Given the description of an element on the screen output the (x, y) to click on. 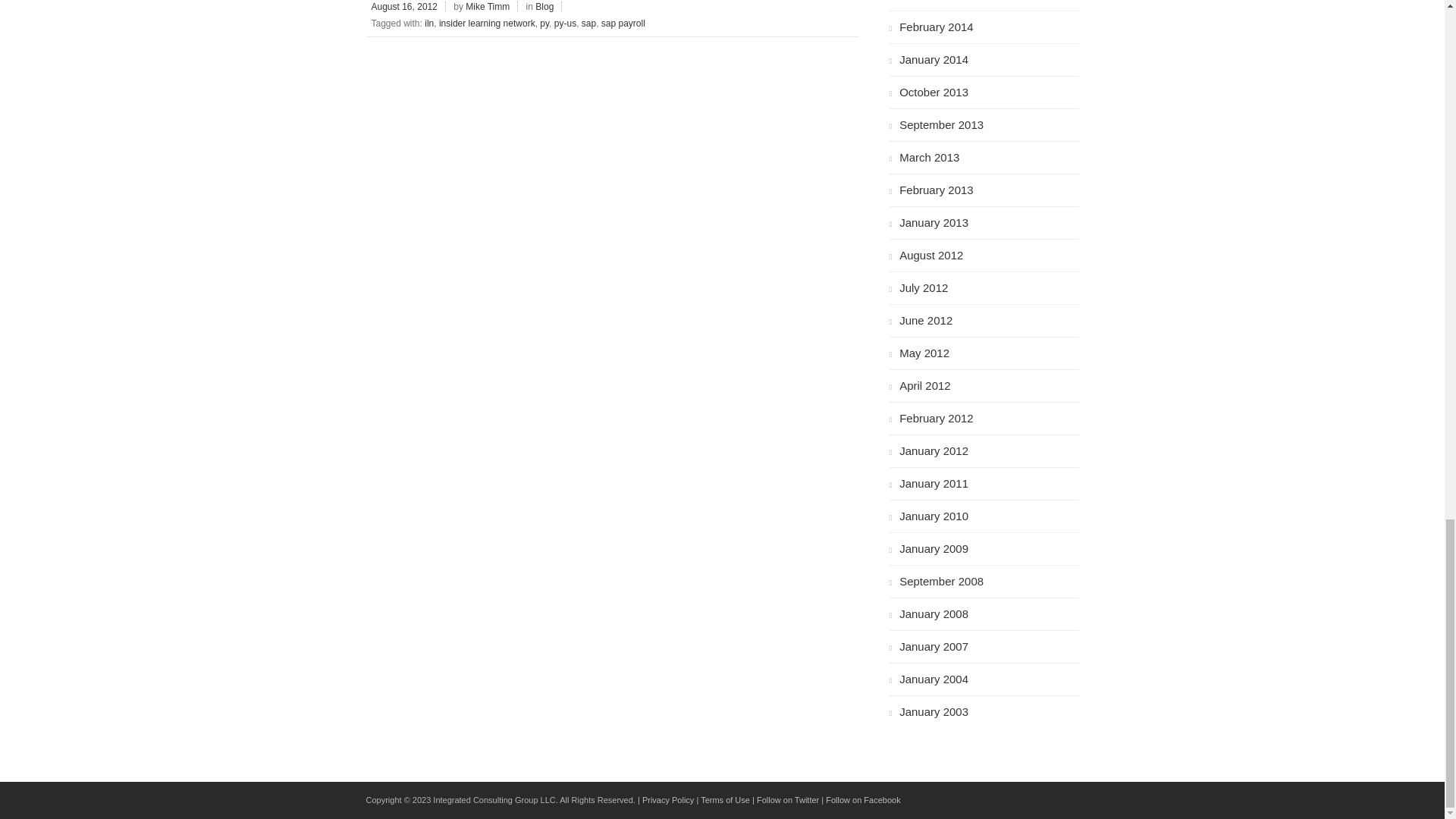
py-us (565, 23)
sap payroll (623, 23)
sap (587, 23)
August 16, 2012 (405, 6)
Mike Timm (488, 6)
Blog (545, 6)
insider learning network (487, 23)
